Given the description of an element on the screen output the (x, y) to click on. 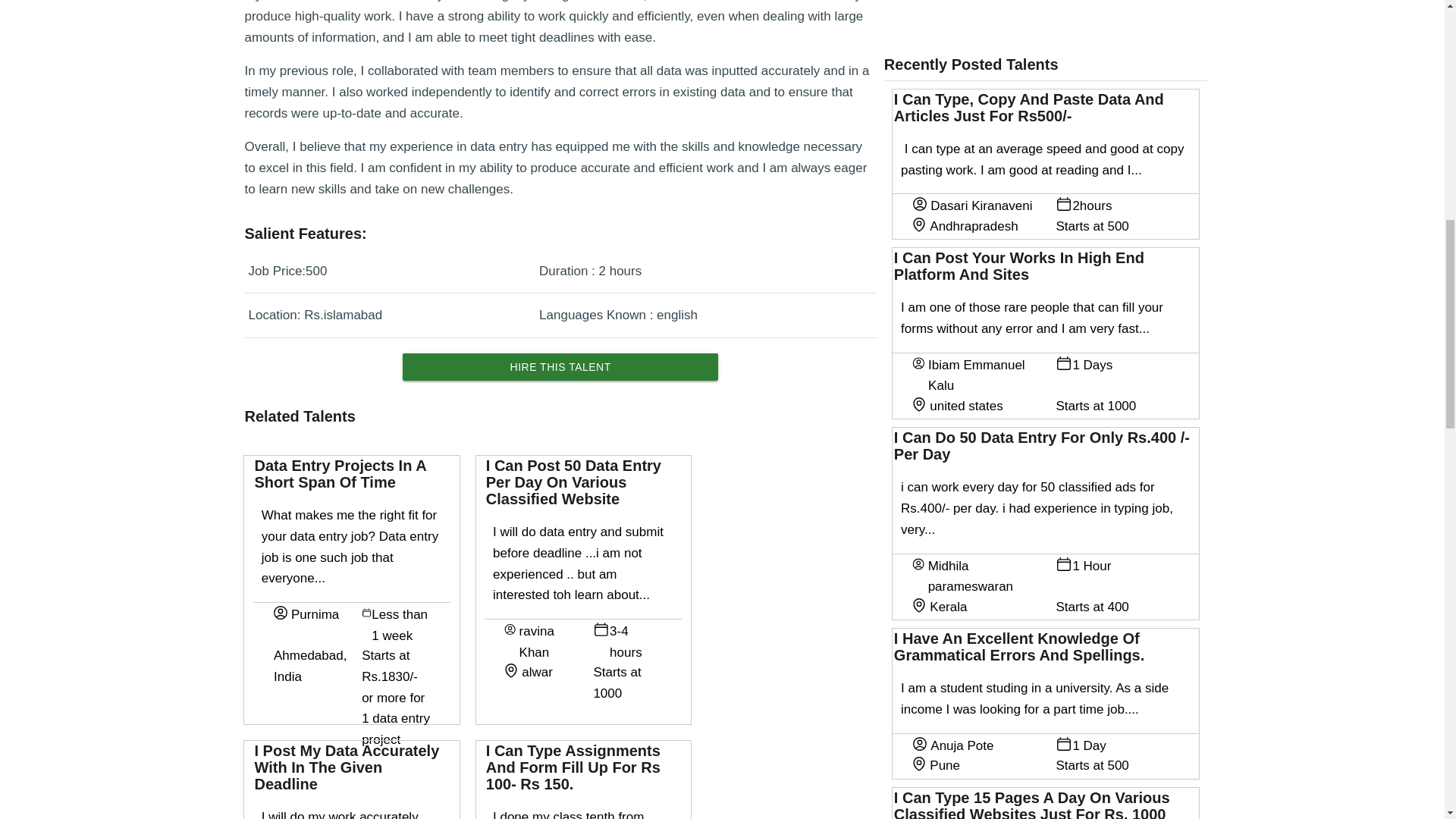
Advertisement (1037, 10)
